Given the description of an element on the screen output the (x, y) to click on. 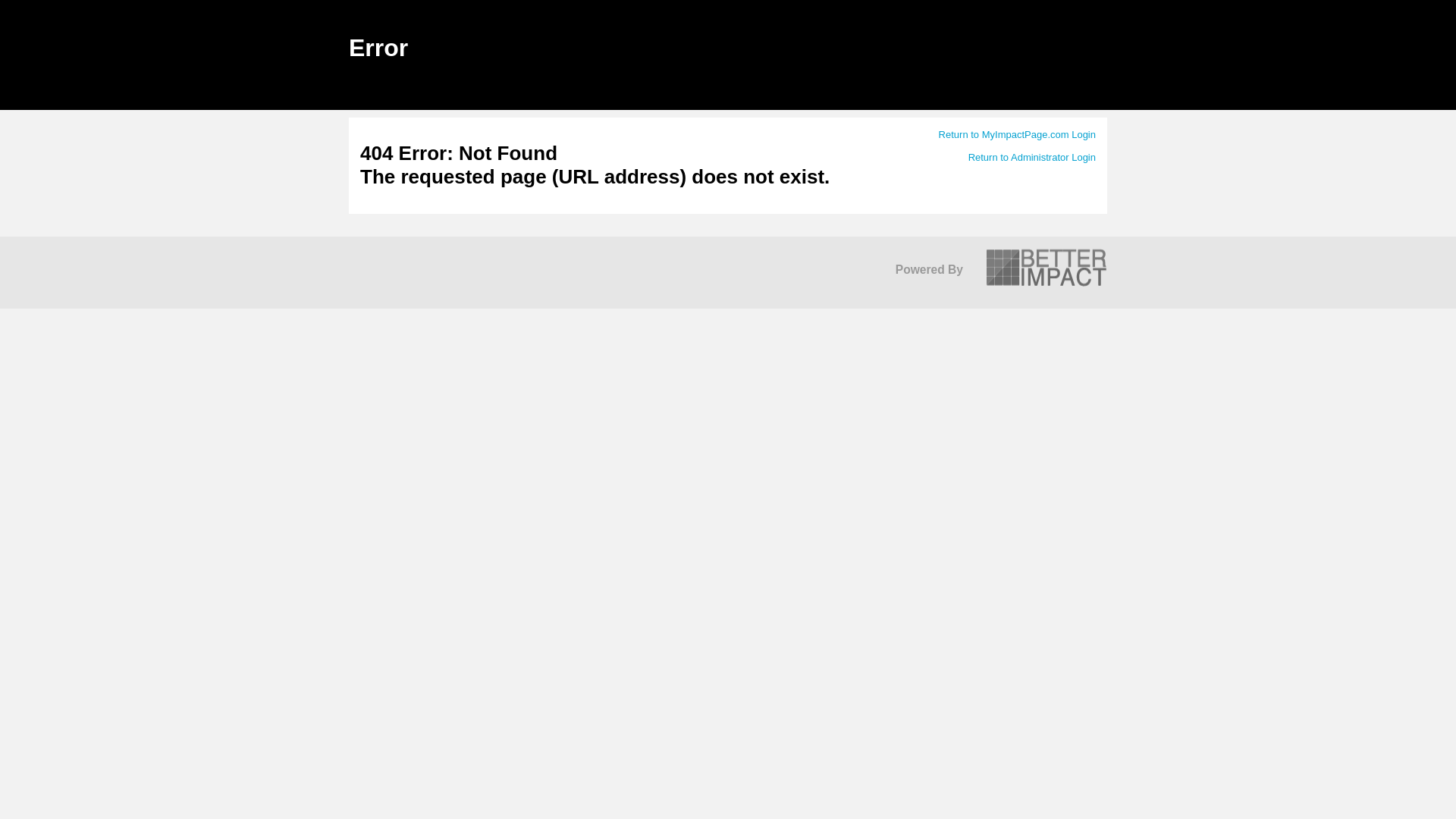
Return to MyImpactPage.com Login (1017, 134)
Return to Administrator Login (1032, 156)
